Given the description of an element on the screen output the (x, y) to click on. 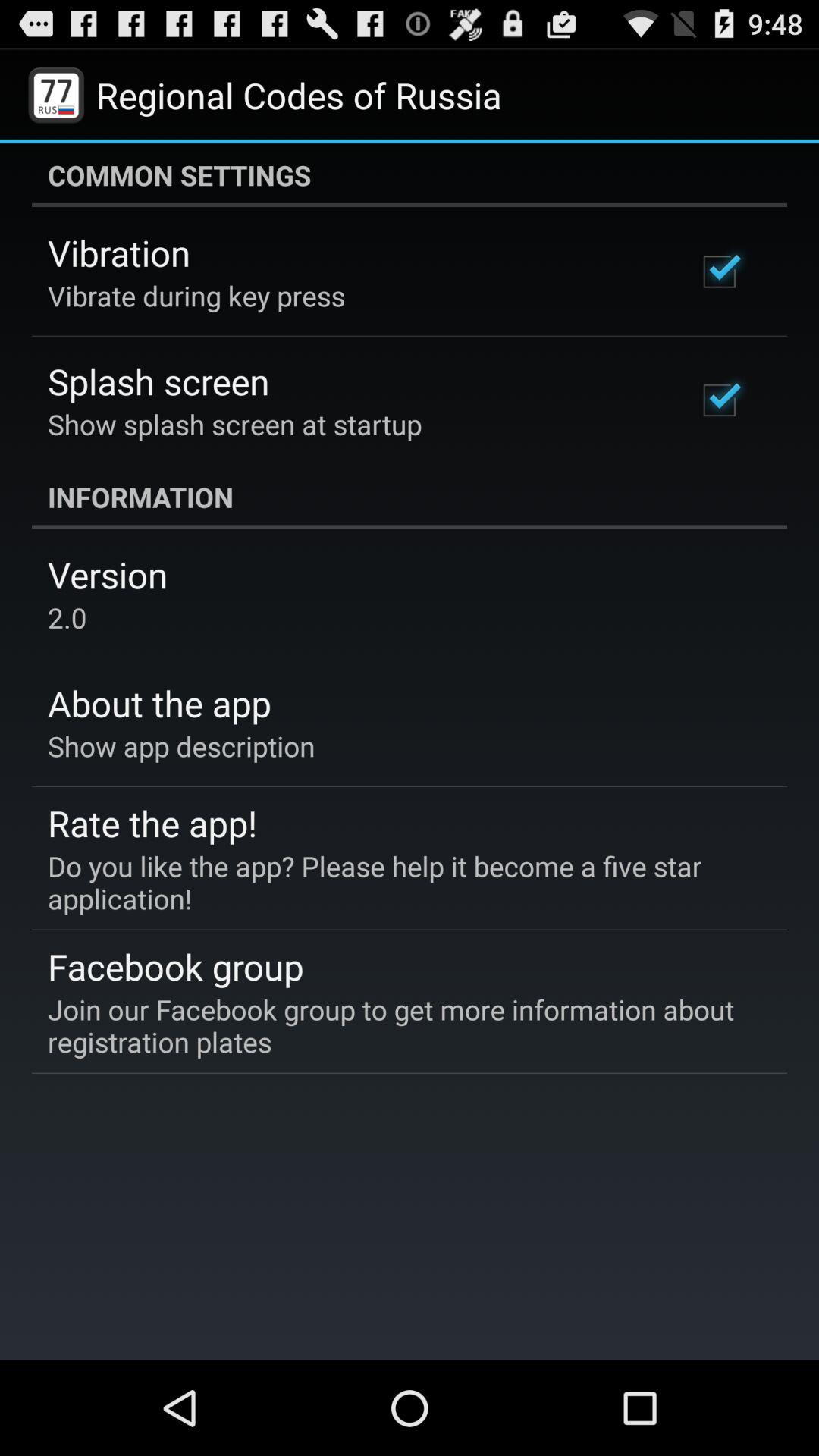
turn on the item above the 2.0 icon (107, 574)
